Given the description of an element on the screen output the (x, y) to click on. 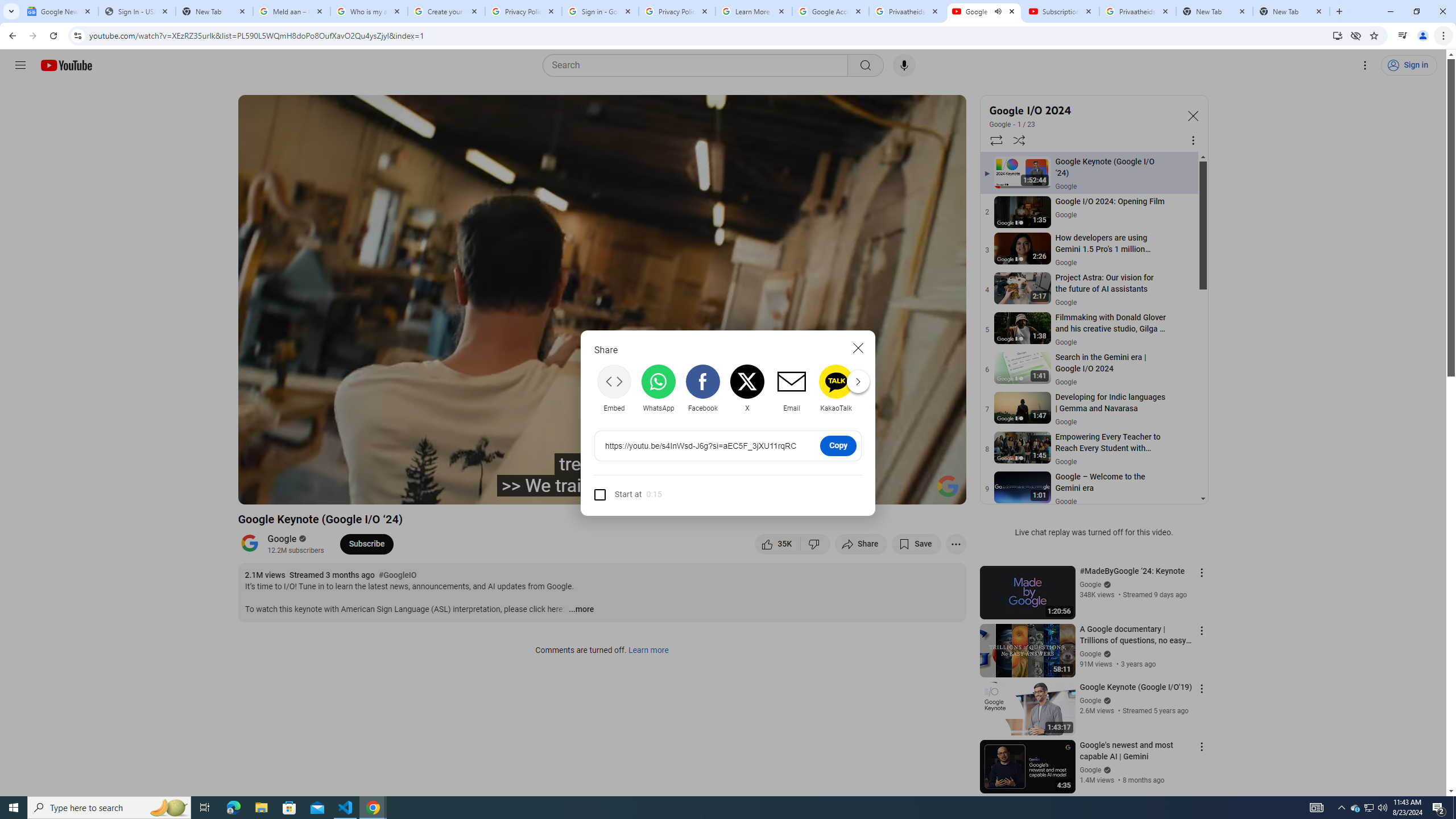
...more (580, 609)
WhatsApp (658, 387)
Subscribe to Google. (366, 543)
Next (SHIFT+n) (310, 490)
Create your Google Account (446, 11)
Google (999, 124)
WhatsApp (658, 388)
Save to playlist (915, 543)
Previous (SHIFT+p) (259, 490)
AutomationID: share-url (703, 445)
Subtitles/closed captions unavailable (836, 490)
Who is my administrator? - Google Account Help (368, 11)
